Given the description of an element on the screen output the (x, y) to click on. 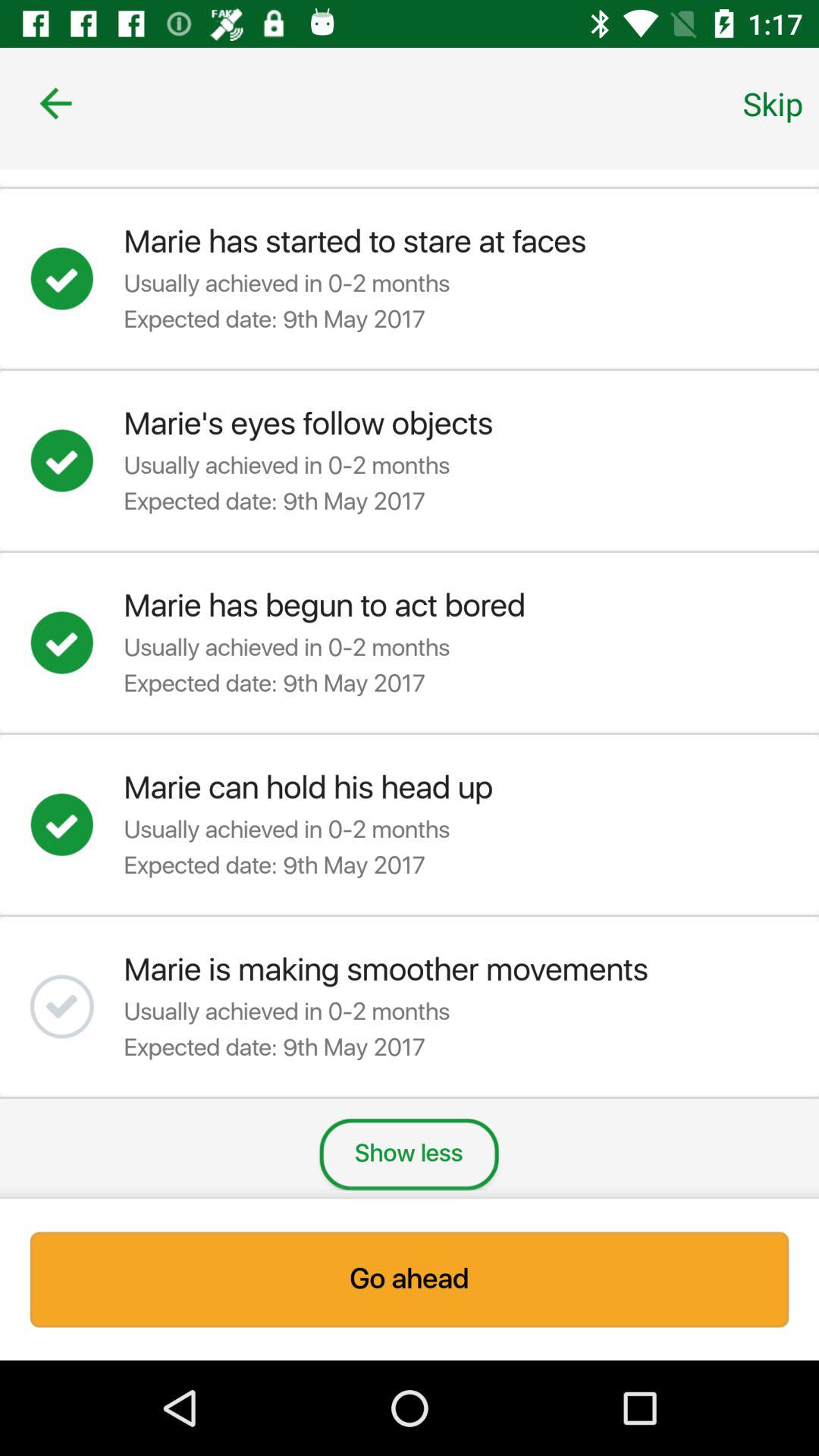
tap item below show less (409, 1279)
